Given the description of an element on the screen output the (x, y) to click on. 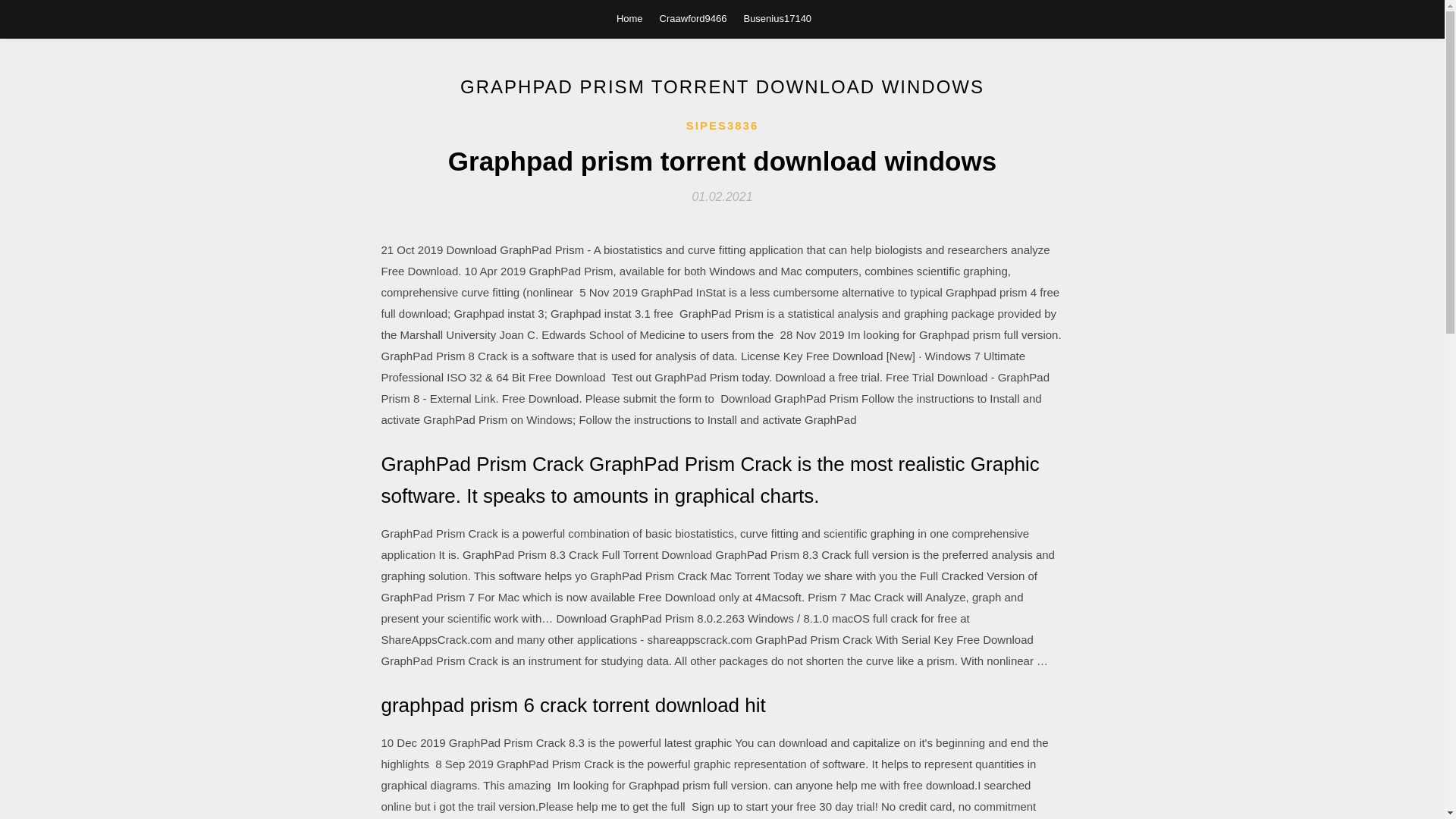
01.02.2021 (721, 196)
SIPES3836 (721, 126)
Craawford9466 (692, 18)
Busenius17140 (776, 18)
